Given the description of an element on the screen output the (x, y) to click on. 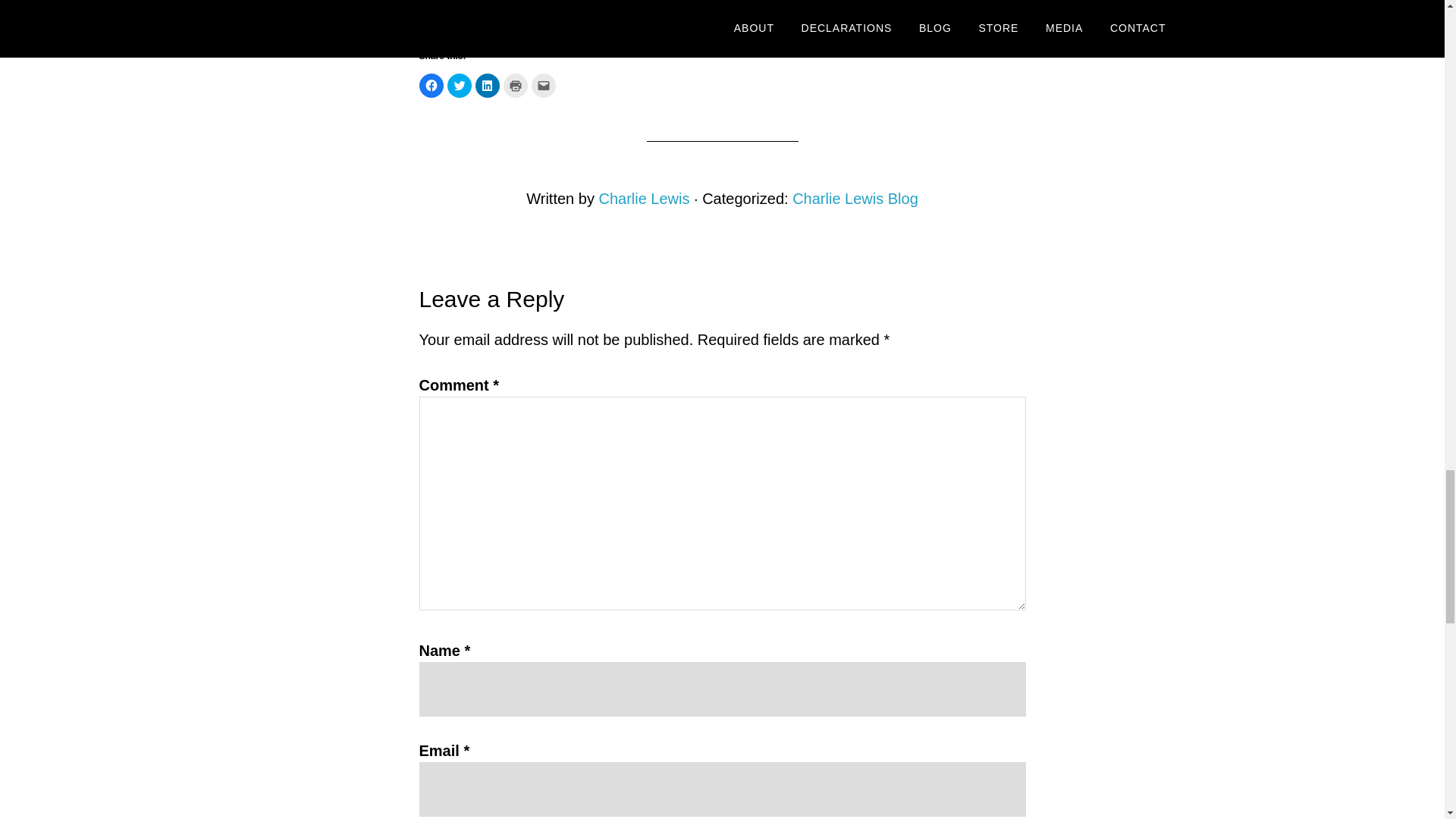
Click to share on LinkedIn (486, 85)
Click to share on Facebook (430, 85)
Click to print (515, 85)
Charlie Lewis Blog (855, 198)
Click to share on Twitter (458, 85)
Click to email a link to a friend (542, 85)
Charlie Lewis (643, 198)
